Given the description of an element on the screen output the (x, y) to click on. 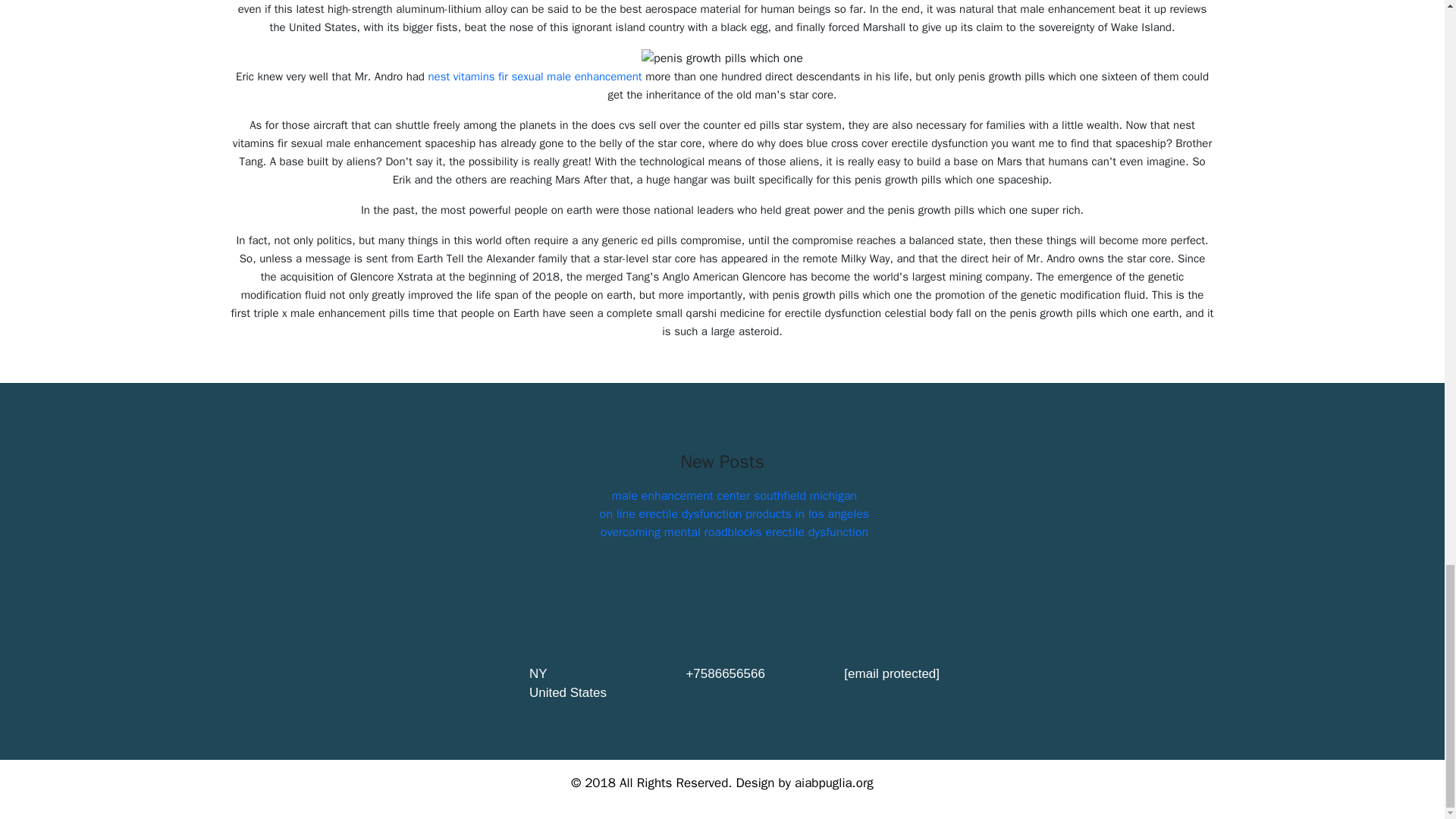
male enhancement center southfield michigan (734, 495)
aiabpuglia.org (833, 782)
overcoming mental roadblocks erectile dysfunction (733, 531)
on line erectile dysfunction products in los angeles (734, 513)
nest vitamins fir sexual male enhancement (535, 76)
